Given the description of an element on the screen output the (x, y) to click on. 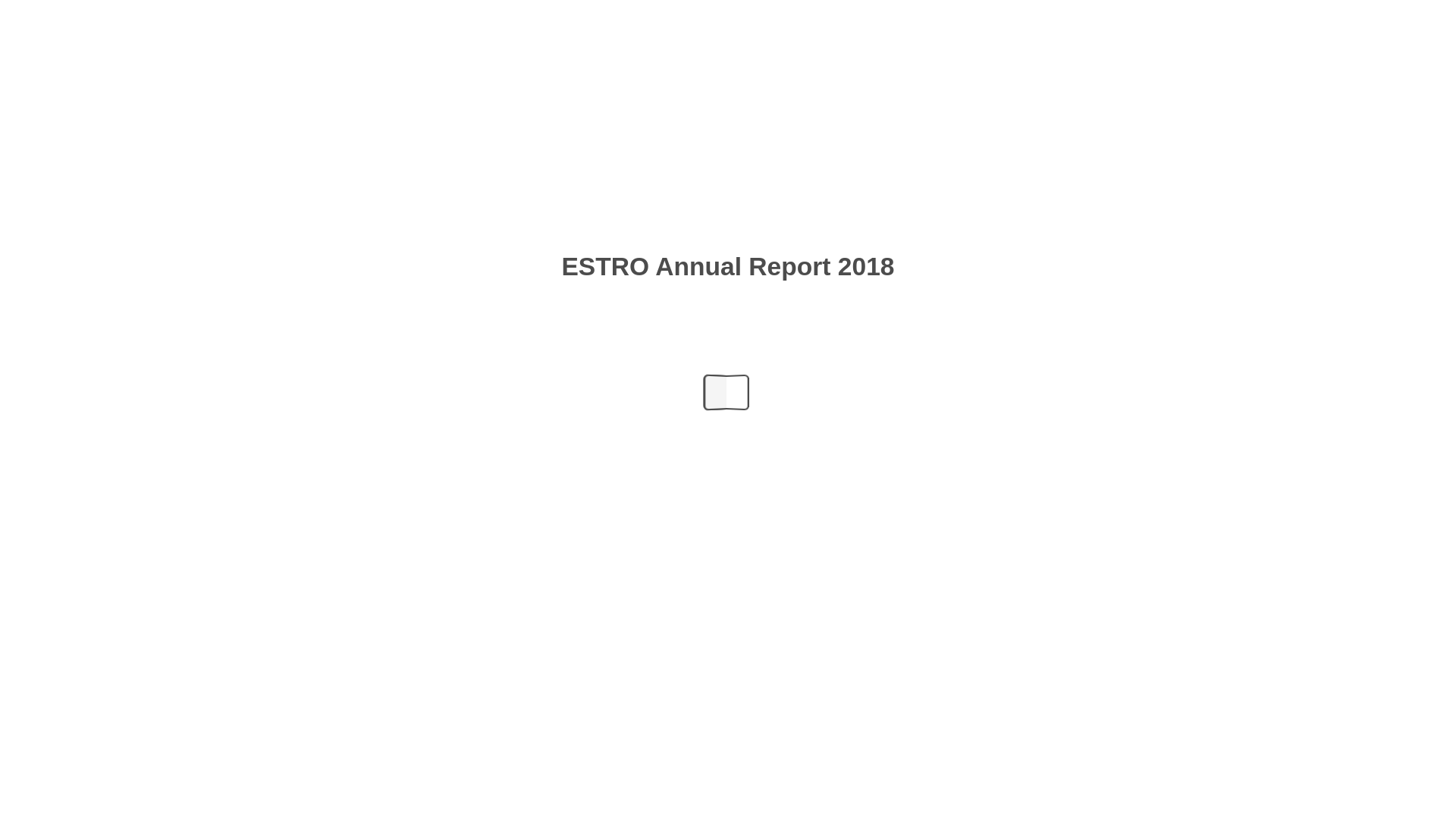
Fullscreen Element type: hover (784, 801)
Print Element type: hover (714, 801)
Table of Contents Element type: hover (600, 801)
Search Element type: hover (1436, 17)
Add Note Element type: hover (985, 63)
Start Slideshow Element type: hover (854, 801)
Thumbnails Element type: hover (623, 801)
Notes Element type: hover (644, 801)
Share Element type: hover (693, 801)
Download Element type: hover (737, 801)
Zoom In Element type: hover (807, 801)
